Given the description of an element on the screen output the (x, y) to click on. 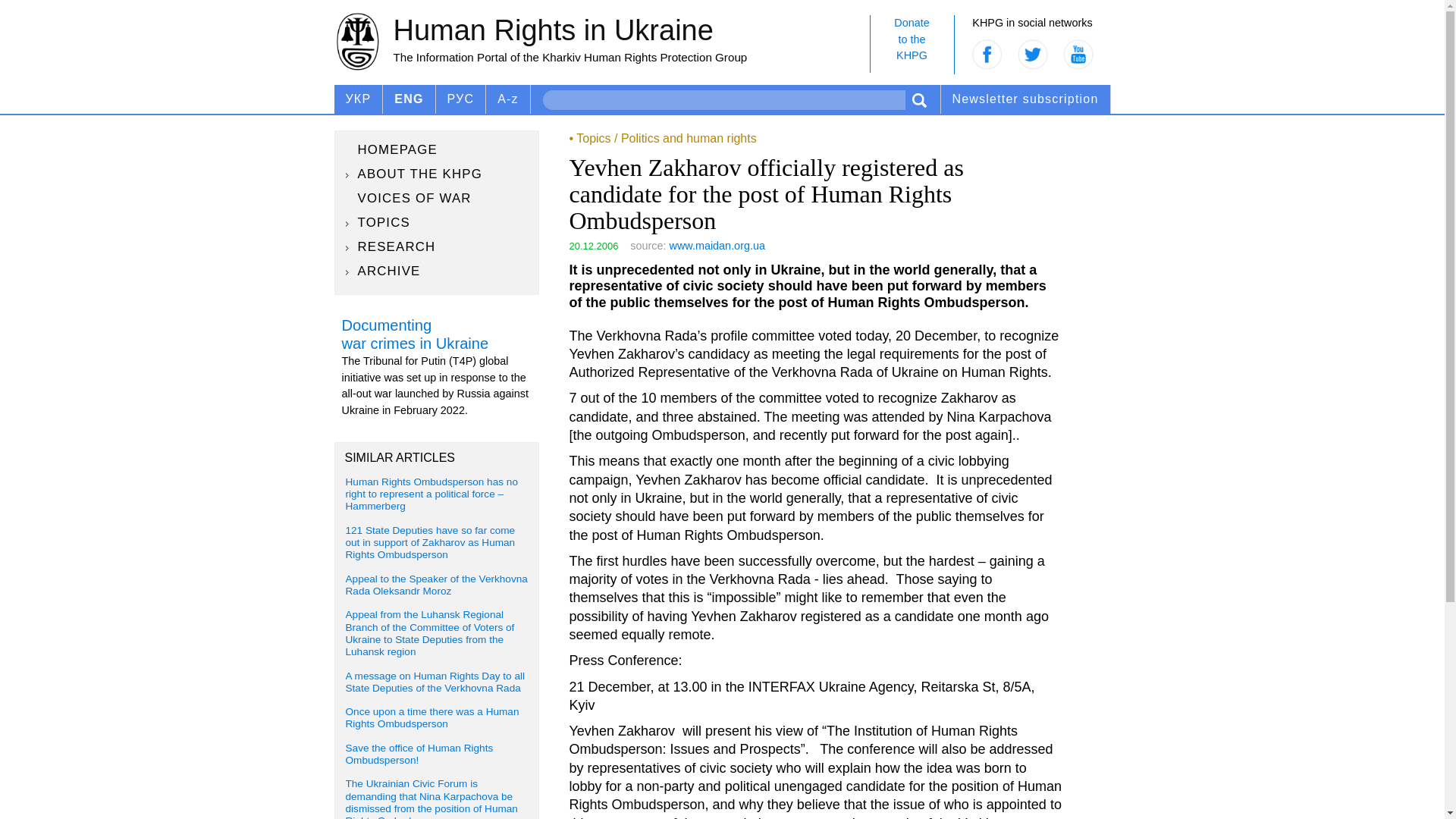
HOMEPAGE (437, 149)
VOICES OF WAR (911, 43)
A-z (437, 198)
TOPICS (507, 99)
ABOUT THE KHPG (437, 222)
Newsletter subscription (437, 174)
